Given the description of an element on the screen output the (x, y) to click on. 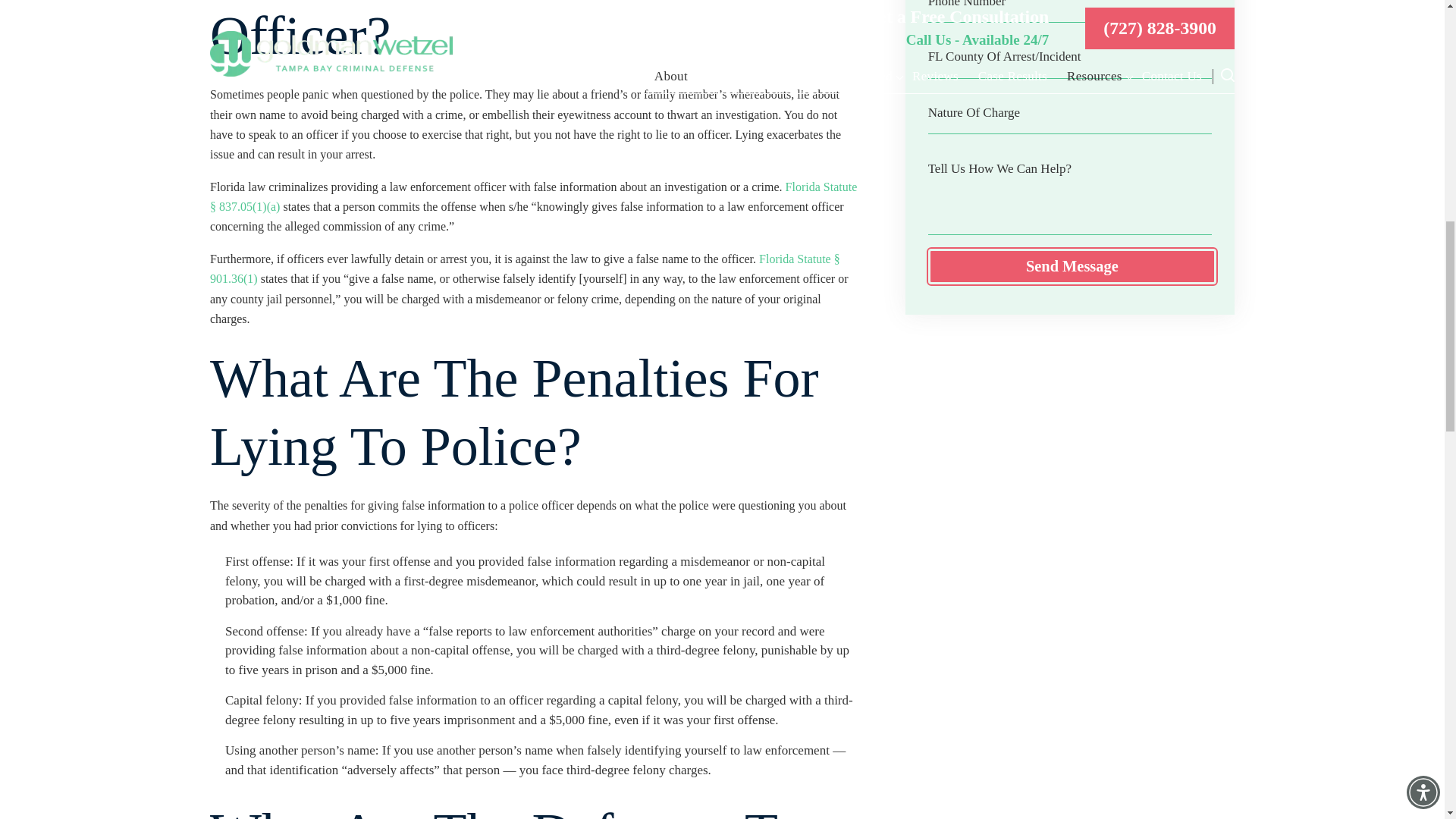
Send Message (1072, 265)
